Given the description of an element on the screen output the (x, y) to click on. 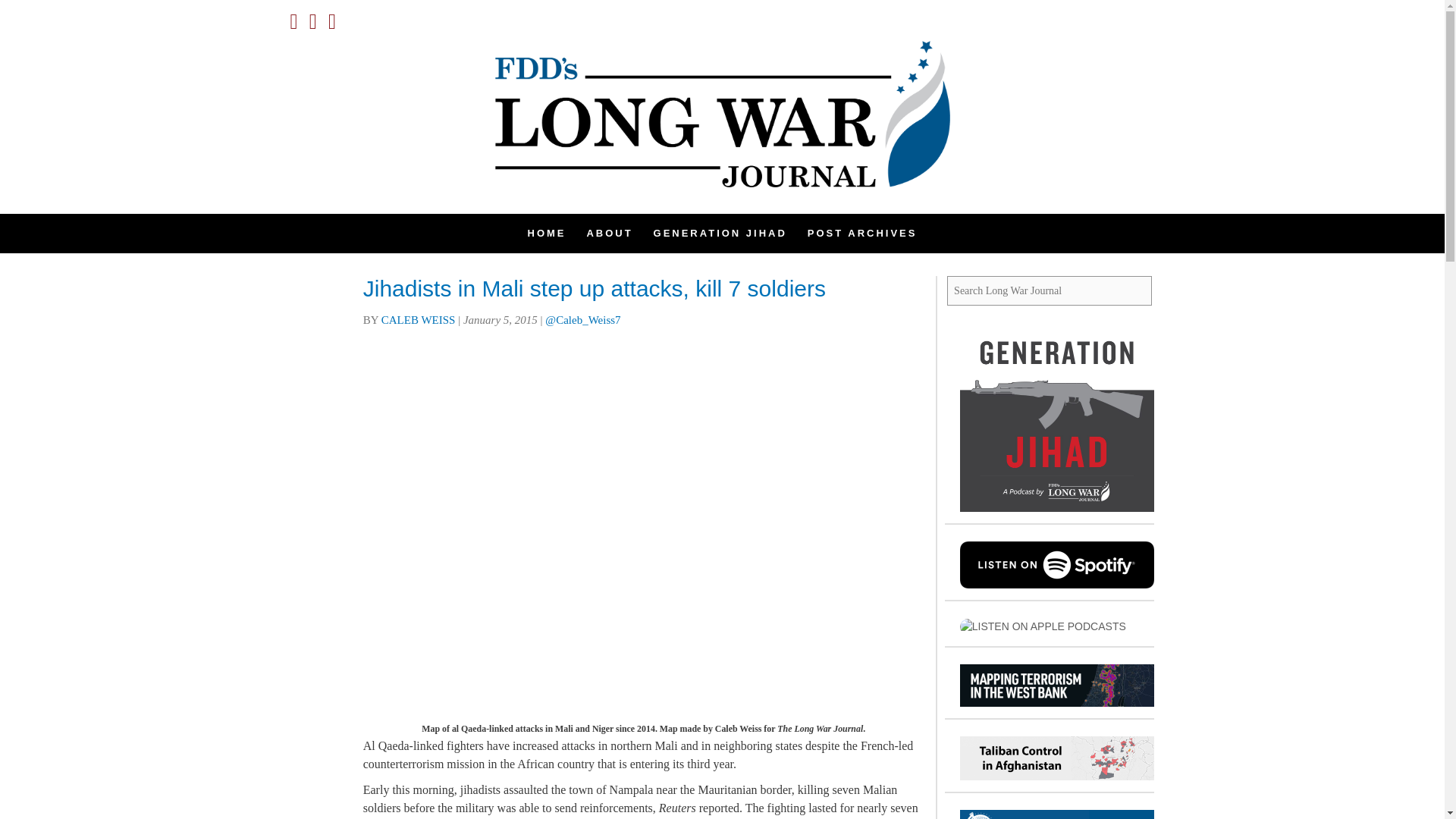
CALEB WEISS (418, 319)
Jihadists in Mali step up attacks, kill 7 soldiers (593, 288)
ABOUT (608, 233)
GENERATION JIHAD (720, 233)
HOME (546, 233)
Posts by Caleb Weiss (418, 319)
POST ARCHIVES (862, 233)
